Given the description of an element on the screen output the (x, y) to click on. 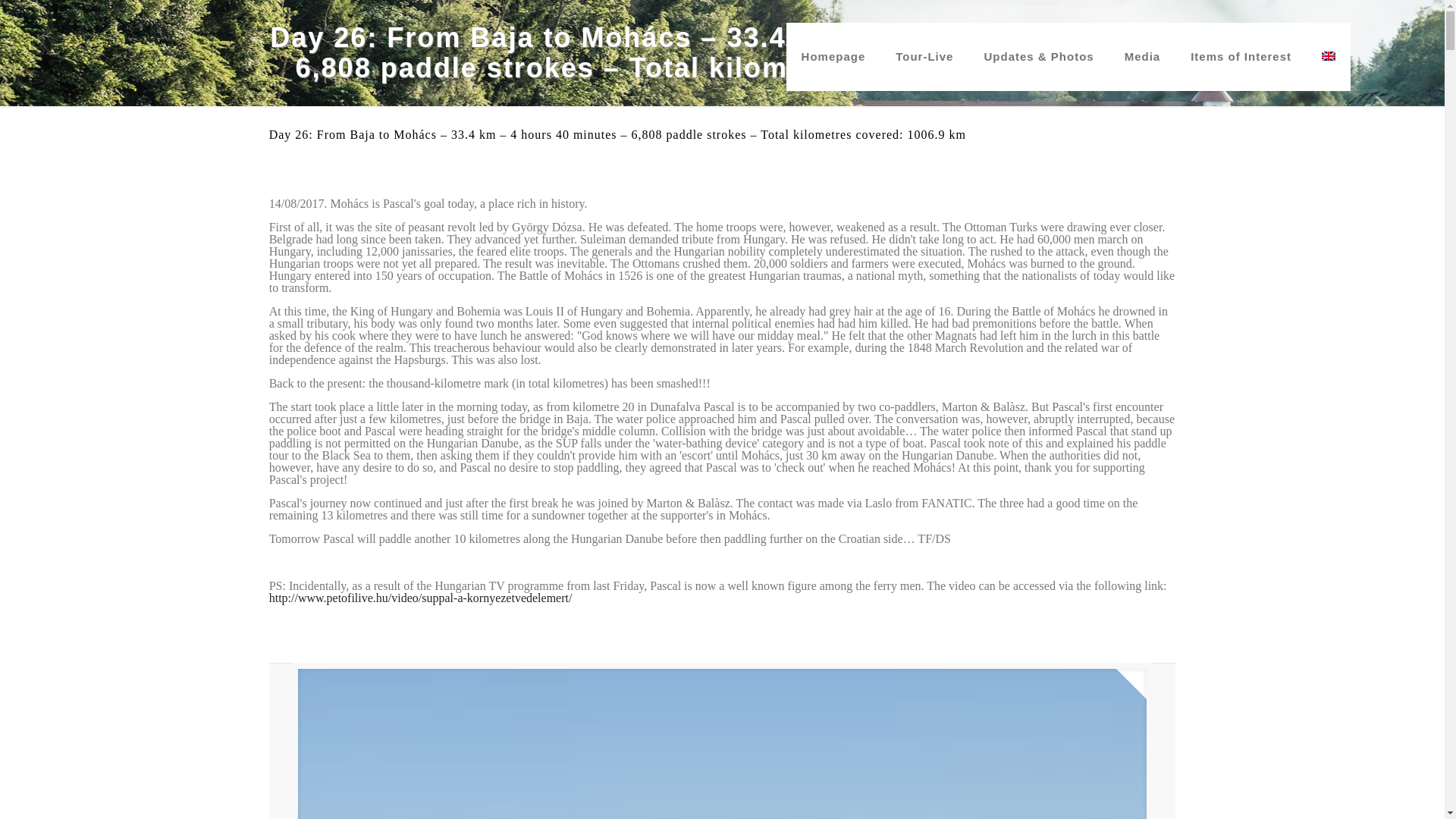
Media (1142, 56)
Items of Interest (1240, 56)
English (1328, 55)
Homepage (833, 56)
Tour-Live (924, 56)
